Given the description of an element on the screen output the (x, y) to click on. 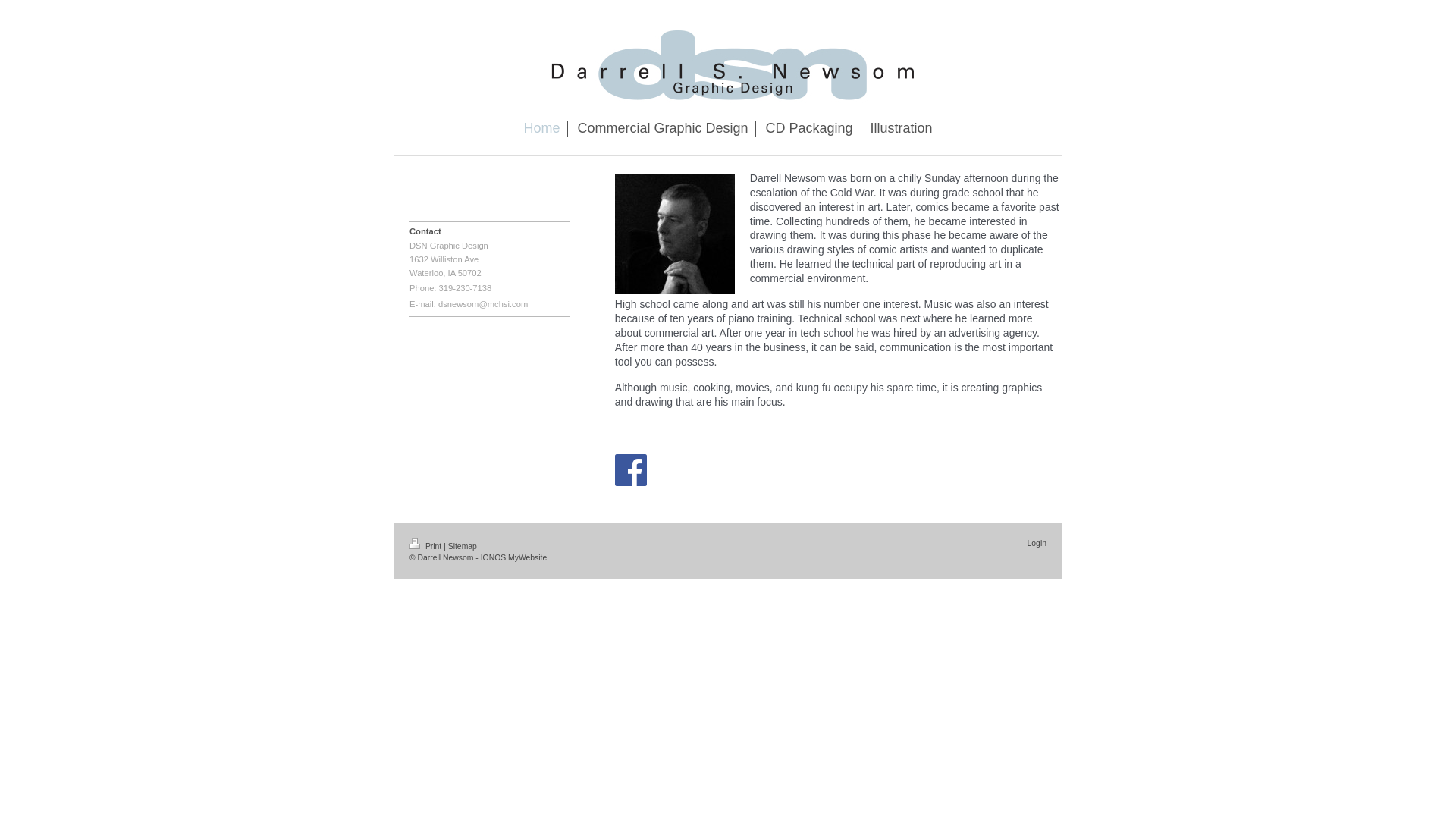
Commercial Graphic Design (662, 128)
IONOS MyWebsite (513, 557)
Home (541, 128)
CD Packaging (808, 128)
Print (426, 546)
Login (1036, 542)
Illustration (901, 128)
Sitemap (462, 546)
